Given the description of an element on the screen output the (x, y) to click on. 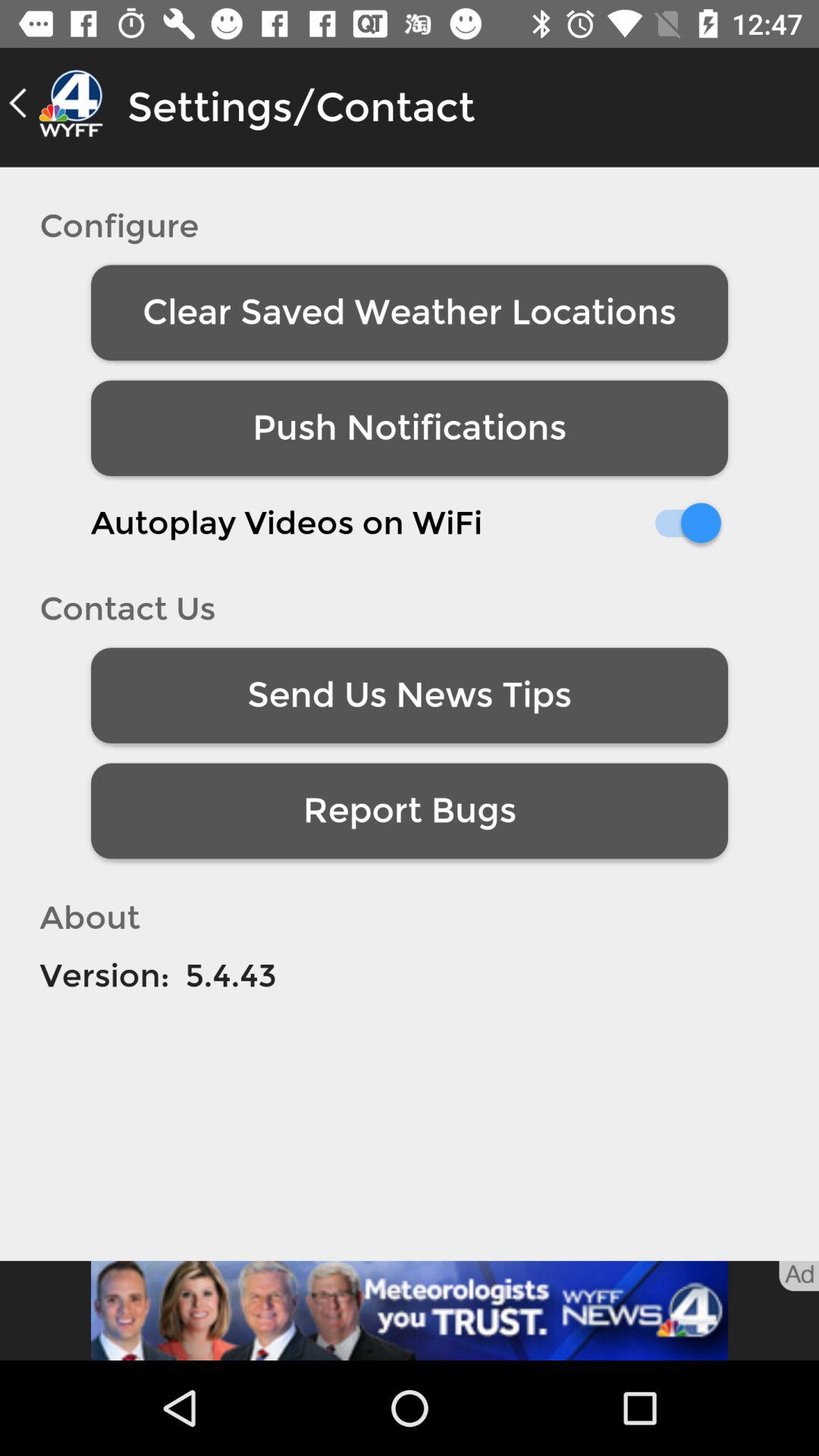
go to advertised site (409, 1310)
